Given the description of an element on the screen output the (x, y) to click on. 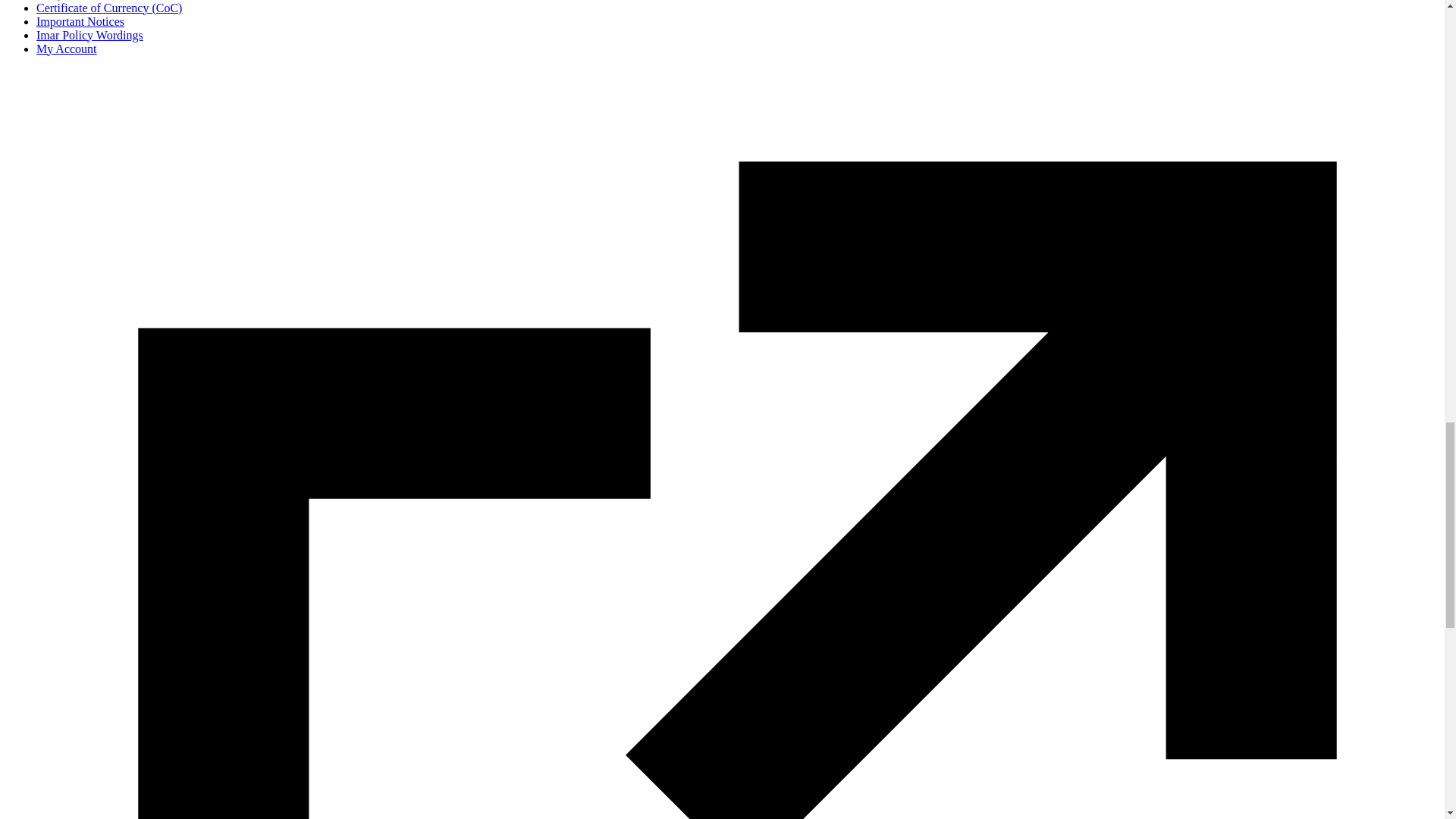
Imar Policy Wordings (89, 34)
Important Notices (79, 21)
